Given the description of an element on the screen output the (x, y) to click on. 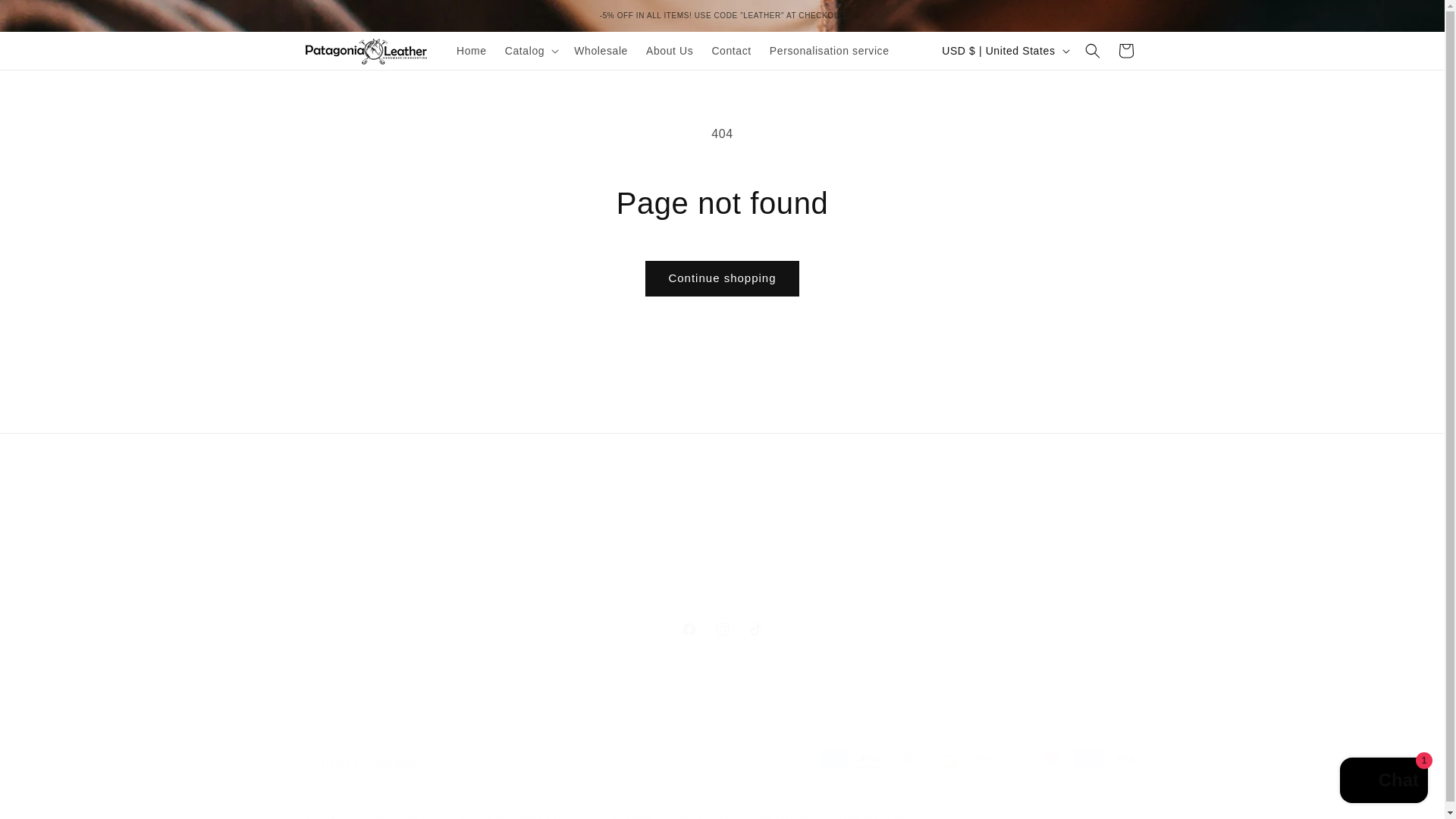
Shopify online store chat (721, 629)
Skip to content (1383, 781)
